Given the description of an element on the screen output the (x, y) to click on. 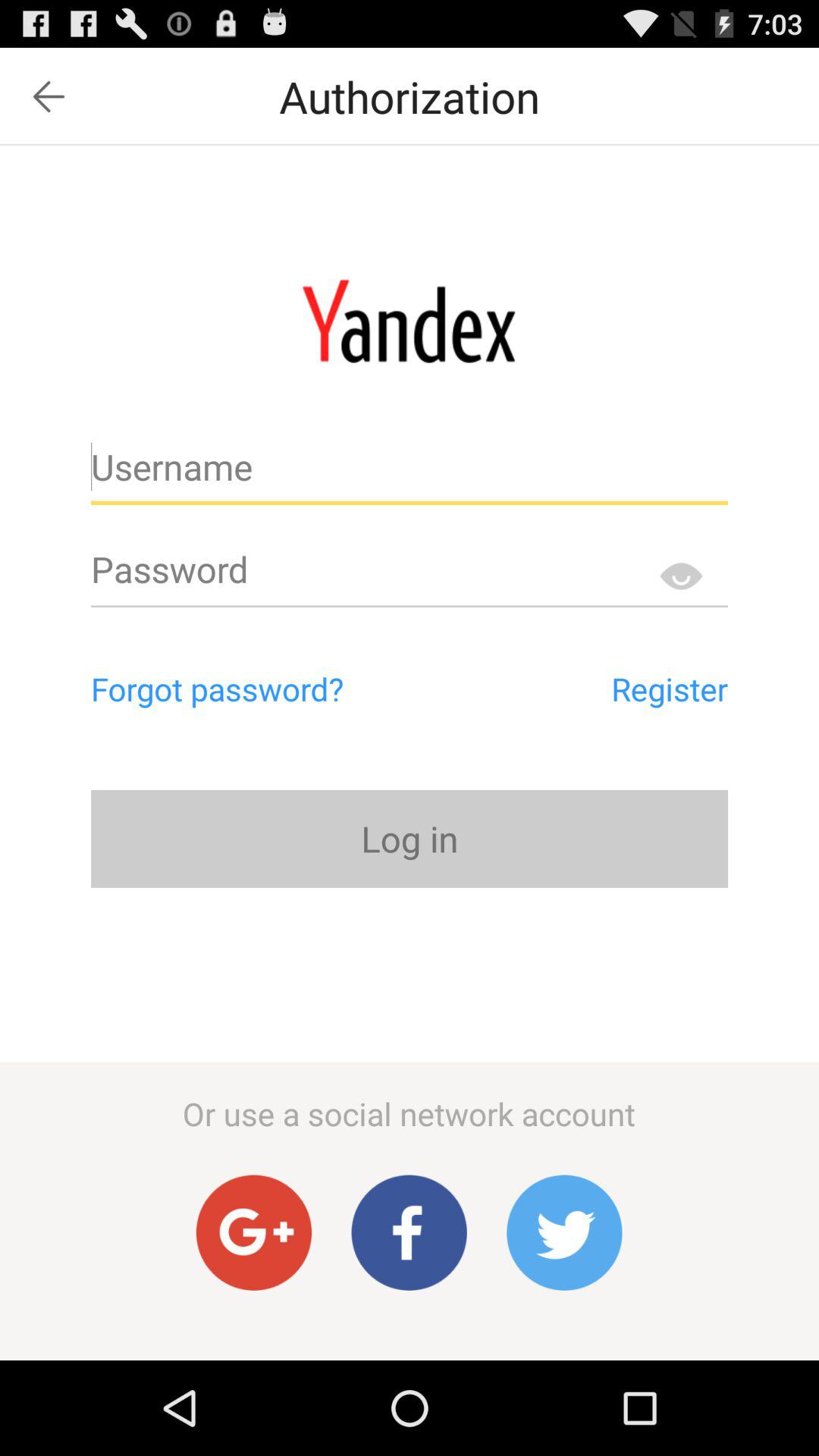
username text box (409, 473)
